Given the description of an element on the screen output the (x, y) to click on. 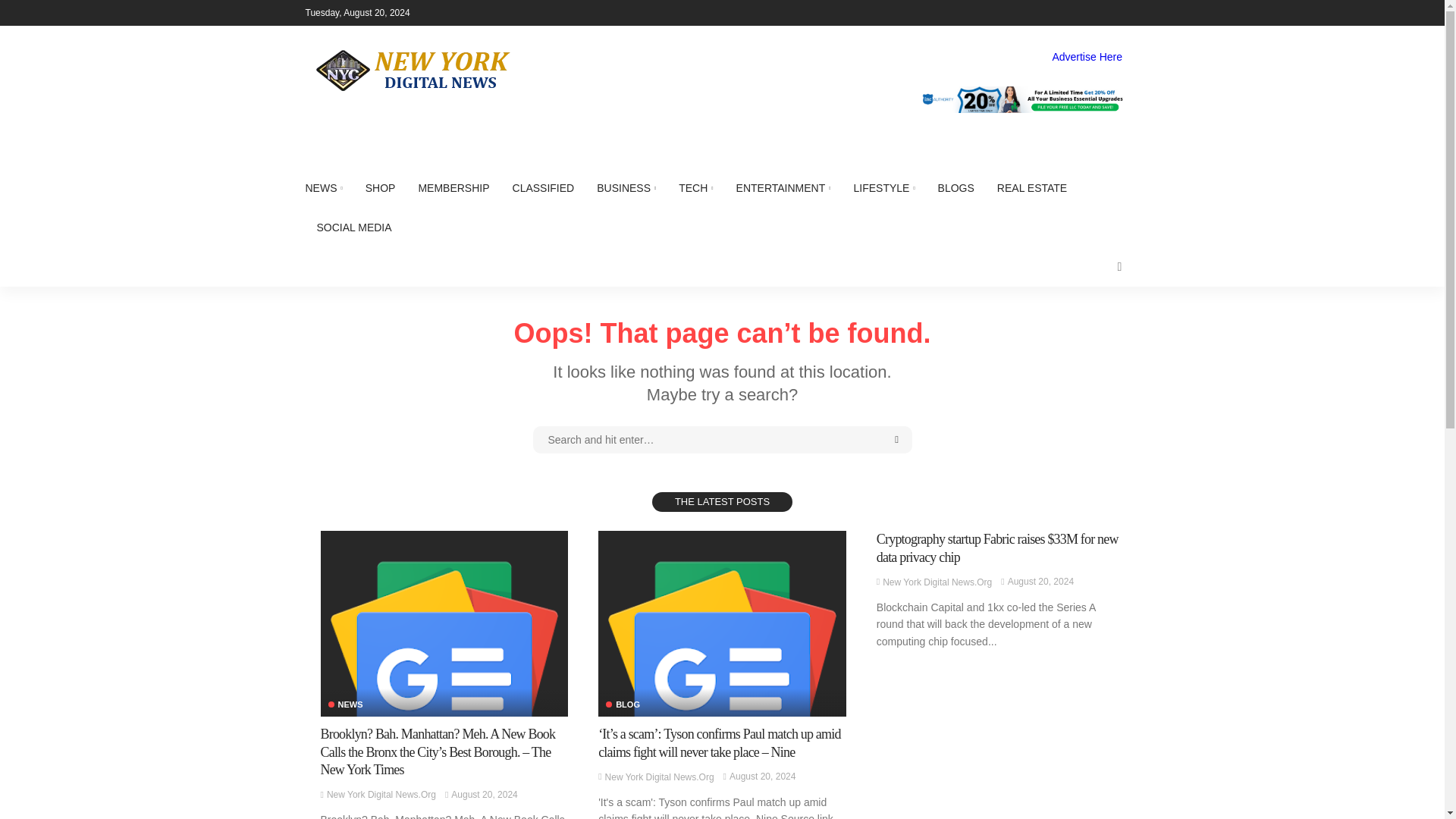
search for: (721, 439)
search (1118, 266)
Blog (622, 705)
News (344, 705)
